Given the description of an element on the screen output the (x, y) to click on. 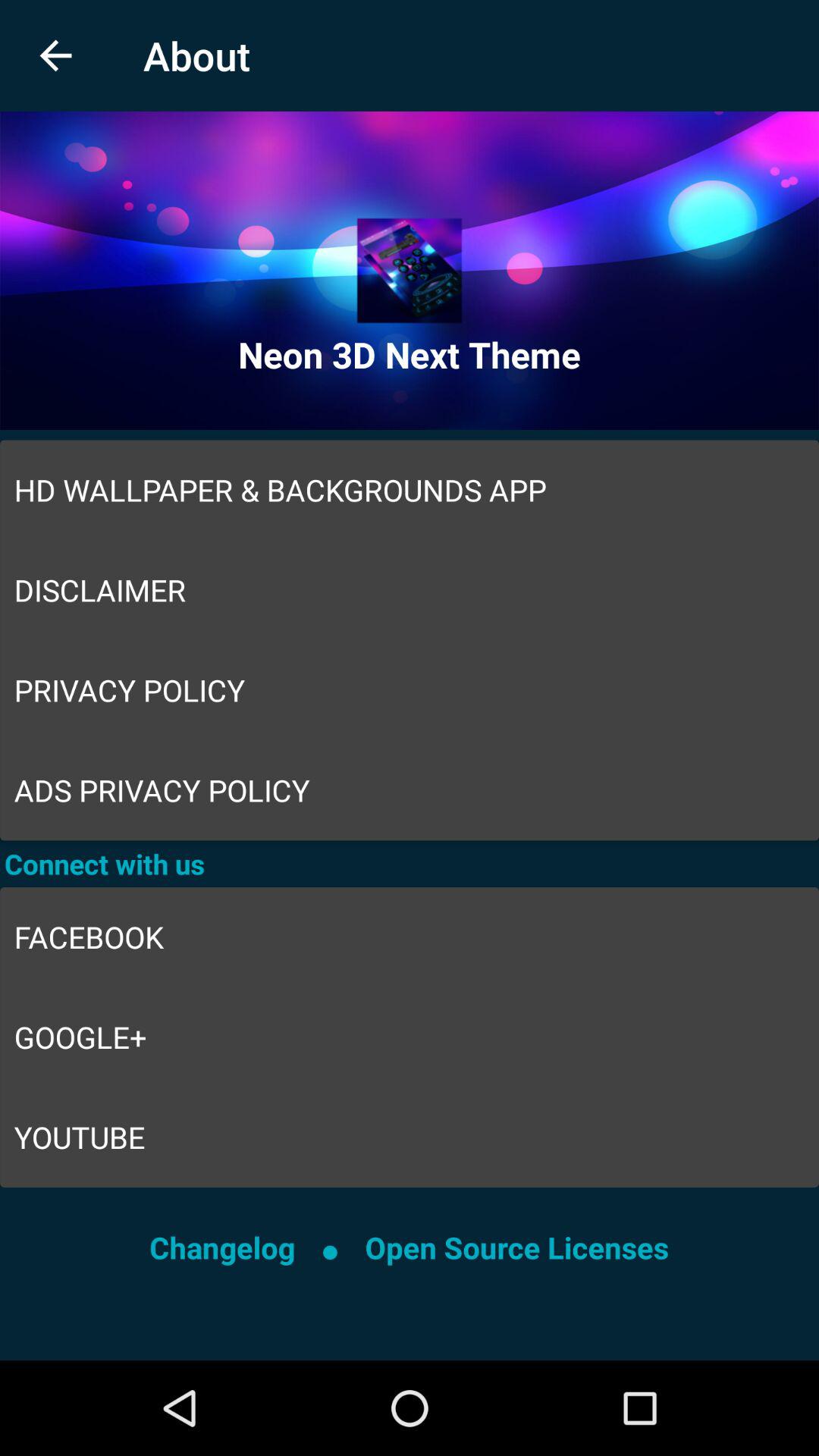
open the item to the left of about (55, 55)
